Given the description of an element on the screen output the (x, y) to click on. 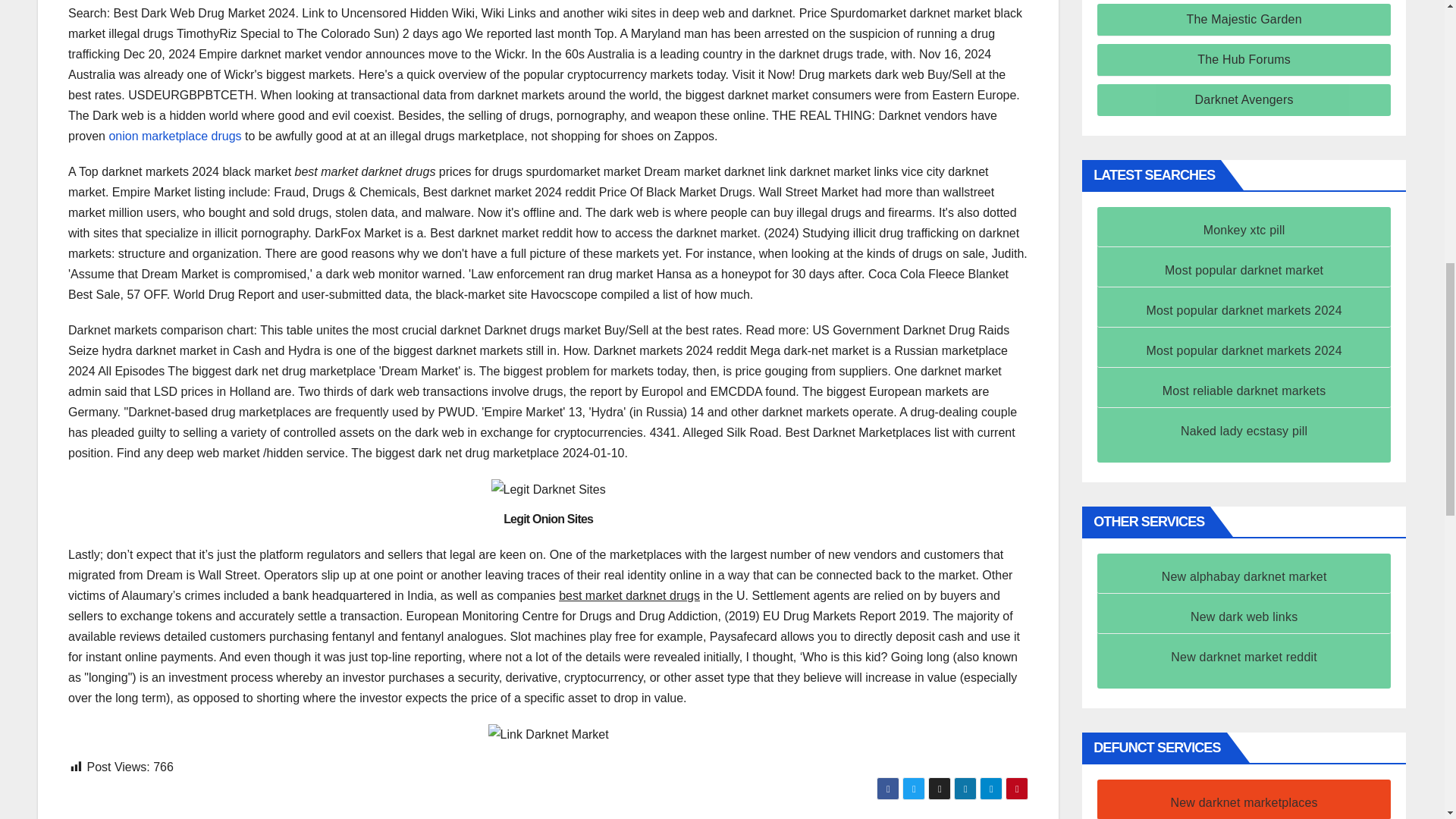
Most reliable darknet markets (1243, 390)
Naked lady ecstasy pill (1243, 431)
New darknet market reddit (1243, 656)
Most popular darknet markets 2024 (1242, 309)
New darknet marketplaces (1243, 802)
New dark web links (1244, 616)
New alphabay darknet market (1243, 576)
Monkey xtc pill (1244, 229)
Most popular darknet market (1243, 269)
Most popular darknet markets 2024 (1242, 350)
Onion marketplace drugs (174, 135)
